Given the description of an element on the screen output the (x, y) to click on. 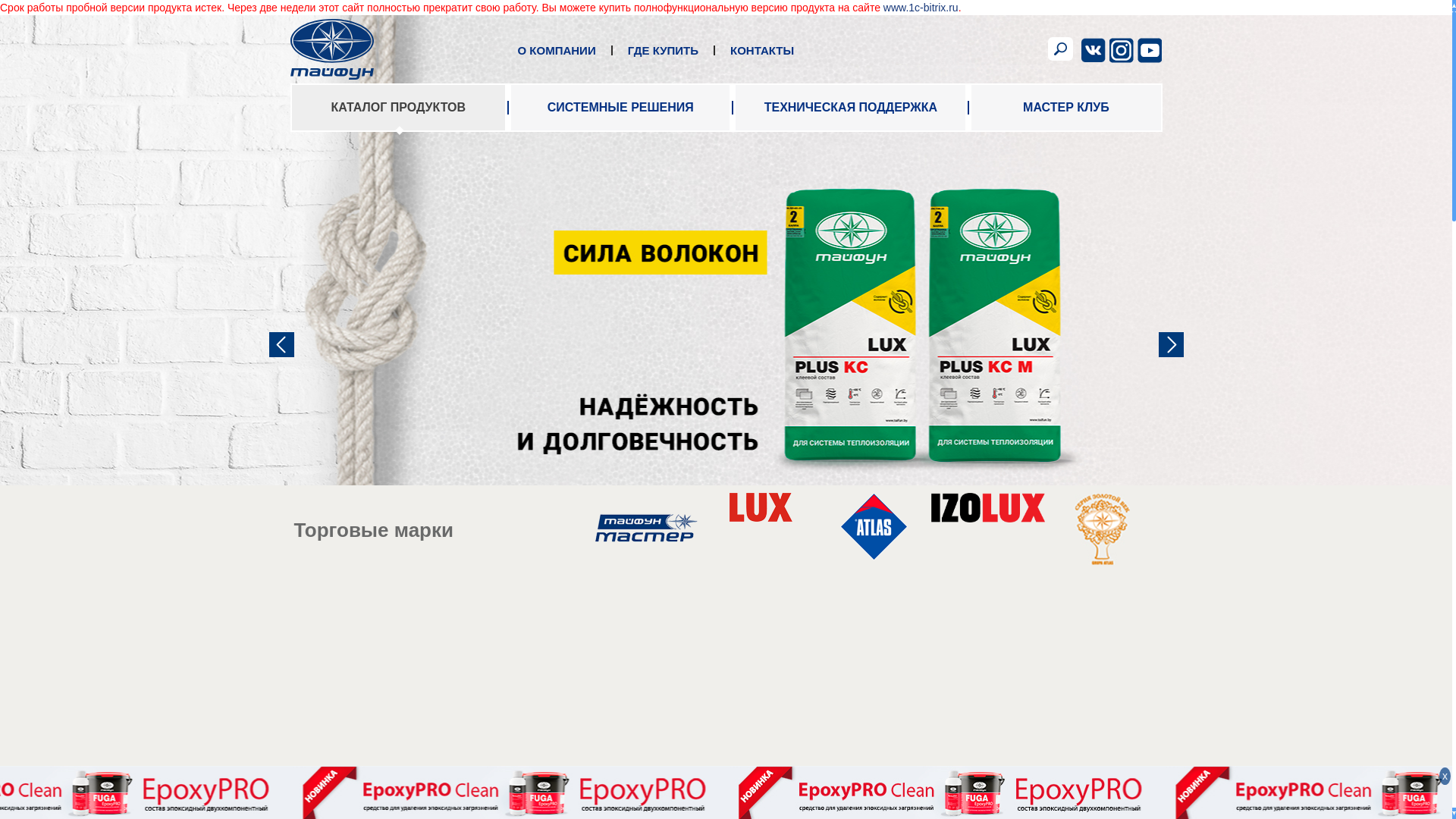
x Element type: text (1444, 775)
www.1c-bitrix.ru Element type: text (920, 7)
